Given the description of an element on the screen output the (x, y) to click on. 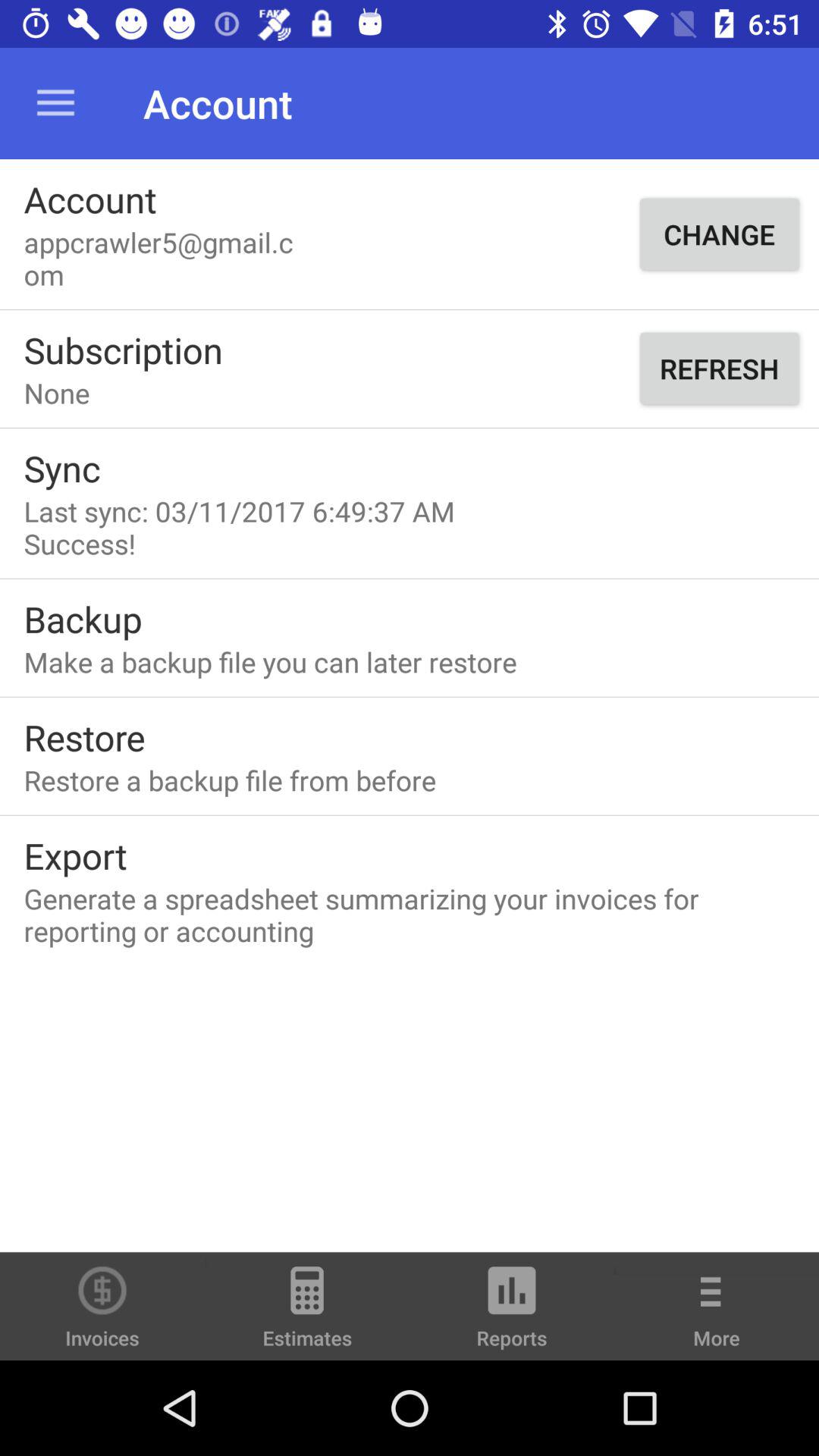
press icon at the bottom right corner (716, 1317)
